Given the description of an element on the screen output the (x, y) to click on. 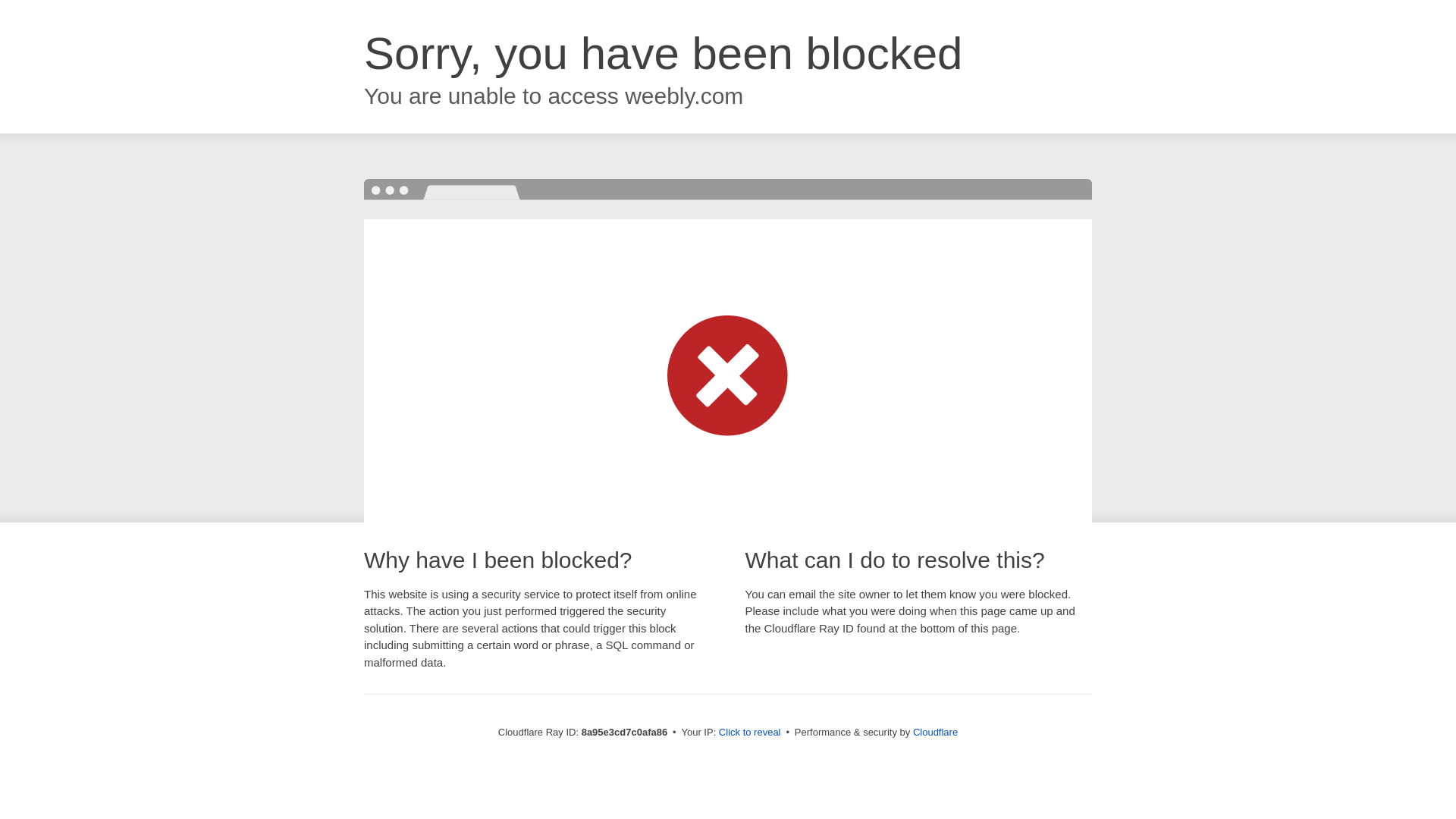
Click to reveal (749, 732)
Cloudflare (935, 731)
